Given the description of an element on the screen output the (x, y) to click on. 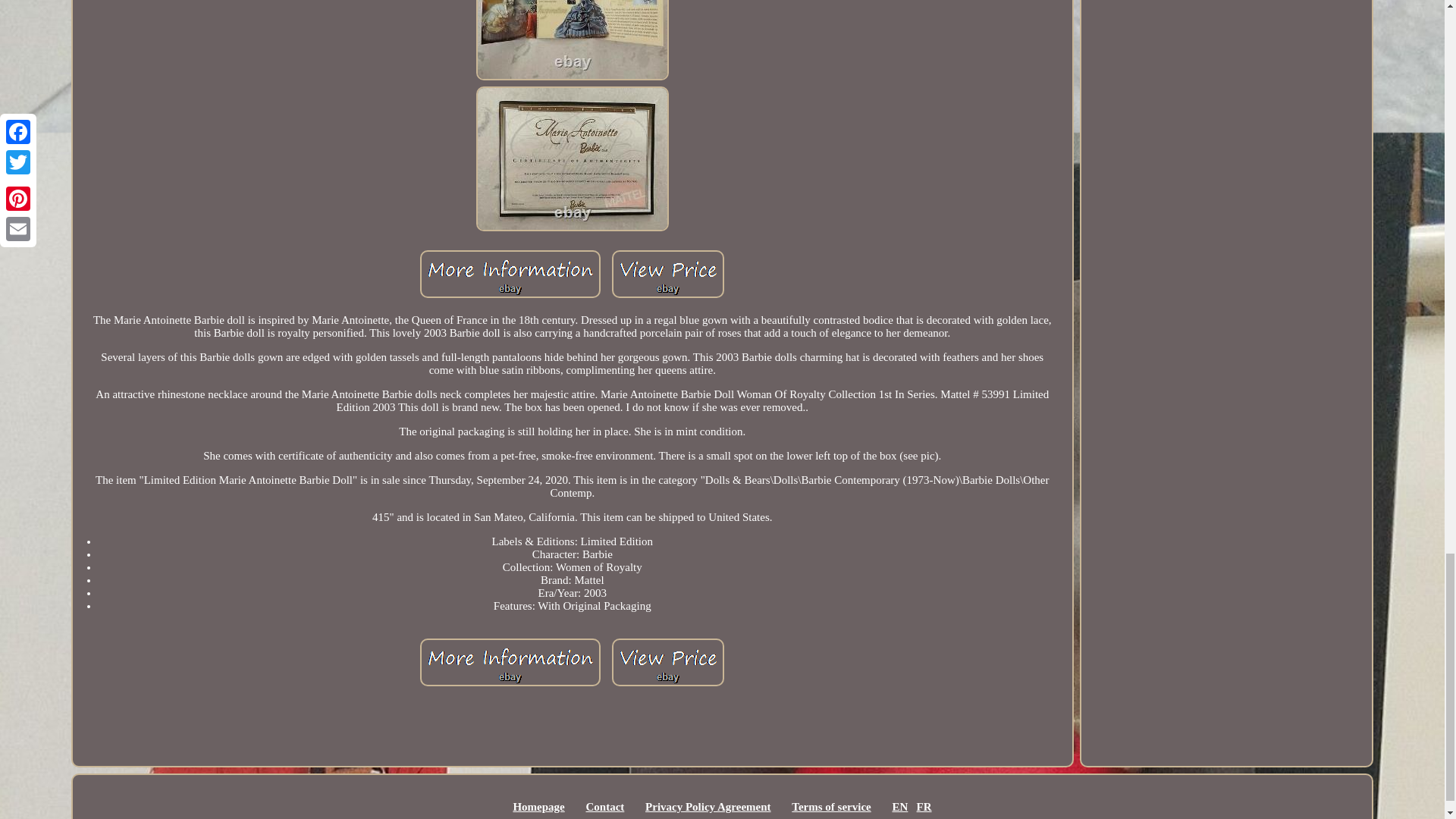
Limited Edition Marie Antoinette Barbie Doll (509, 662)
Limited Edition Marie Antoinette Barbie Doll (667, 274)
Limited Edition Marie Antoinette Barbie Doll (572, 40)
Limited Edition Marie Antoinette Barbie Doll (572, 158)
Limited Edition Marie Antoinette Barbie Doll (509, 274)
Limited Edition Marie Antoinette Barbie Doll (667, 662)
